Given the description of an element on the screen output the (x, y) to click on. 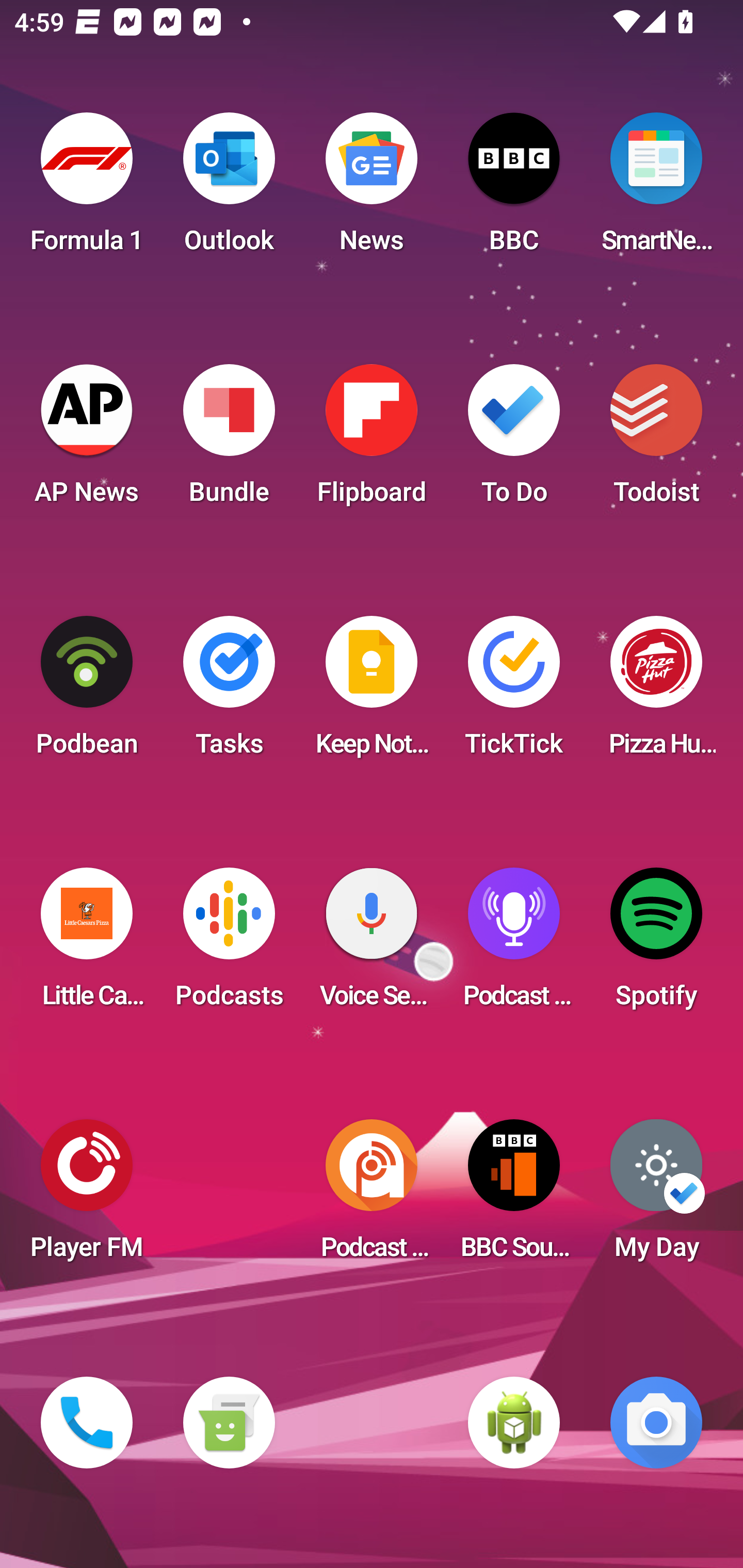
Formula 1 (86, 188)
Outlook (228, 188)
News (371, 188)
BBC (513, 188)
SmartNews (656, 188)
AP News (86, 440)
Bundle (228, 440)
Flipboard (371, 440)
To Do (513, 440)
Todoist (656, 440)
Podbean (86, 692)
Tasks (228, 692)
Keep Notes (371, 692)
TickTick (513, 692)
Pizza Hut HK & Macau (656, 692)
Little Caesars Pizza (86, 943)
Podcasts (228, 943)
Voice Search (371, 943)
Podcast Player (513, 943)
Spotify (656, 943)
Player FM (86, 1195)
Podcast Addict (371, 1195)
BBC Sounds (513, 1195)
My Day (656, 1195)
Phone (86, 1422)
Messaging (228, 1422)
WebView Browser Tester (513, 1422)
Camera (656, 1422)
